Given the description of an element on the screen output the (x, y) to click on. 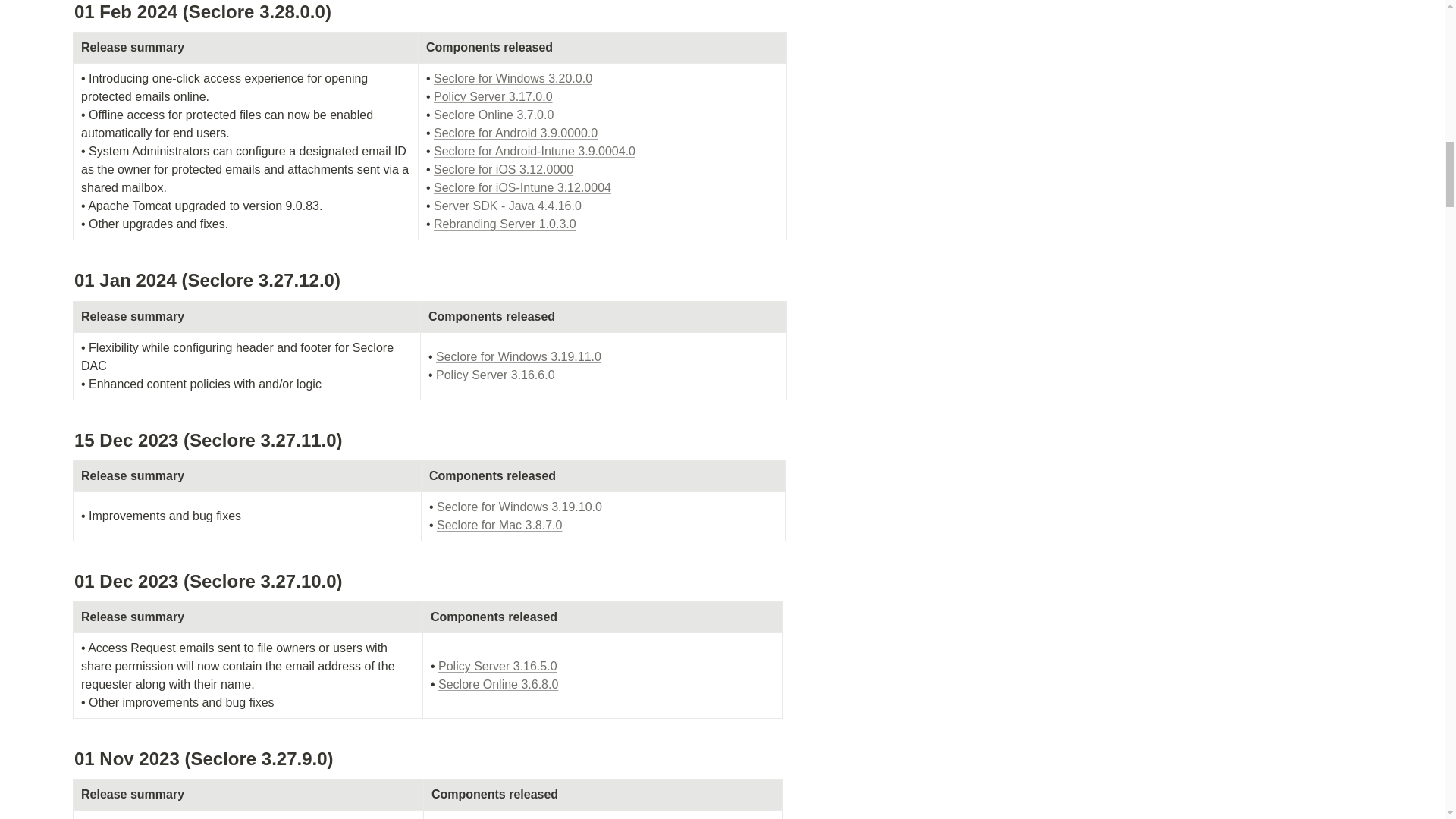
Seclore for Windows 3.19.10.0 (519, 506)
Seclore Online 3.6.8.0 (497, 684)
Server SDK - Java 4.4.16.0 (506, 205)
Rebranding Server 1.0.3.0 (504, 223)
Seclore for Android-Intune 3.9.0004.0 (533, 151)
Policy Server 3.16.6.0 (494, 374)
Policy Server 3.17.0.0 (493, 96)
Seclore for iOS 3.12.0000 (503, 169)
Seclore for Mac 3.8.7.0 (499, 524)
Seclore Online 3.7.0.0 (493, 114)
Seclore for Windows 3.19.11.0 (518, 356)
Seclore for Windows 3.20.0.0 (512, 78)
Policy Server 3.16.5.0 (497, 666)
Seclore for iOS-Intune 3.12.0004 (522, 187)
Seclore for Android 3.9.0000.0 (514, 132)
